Given the description of an element on the screen output the (x, y) to click on. 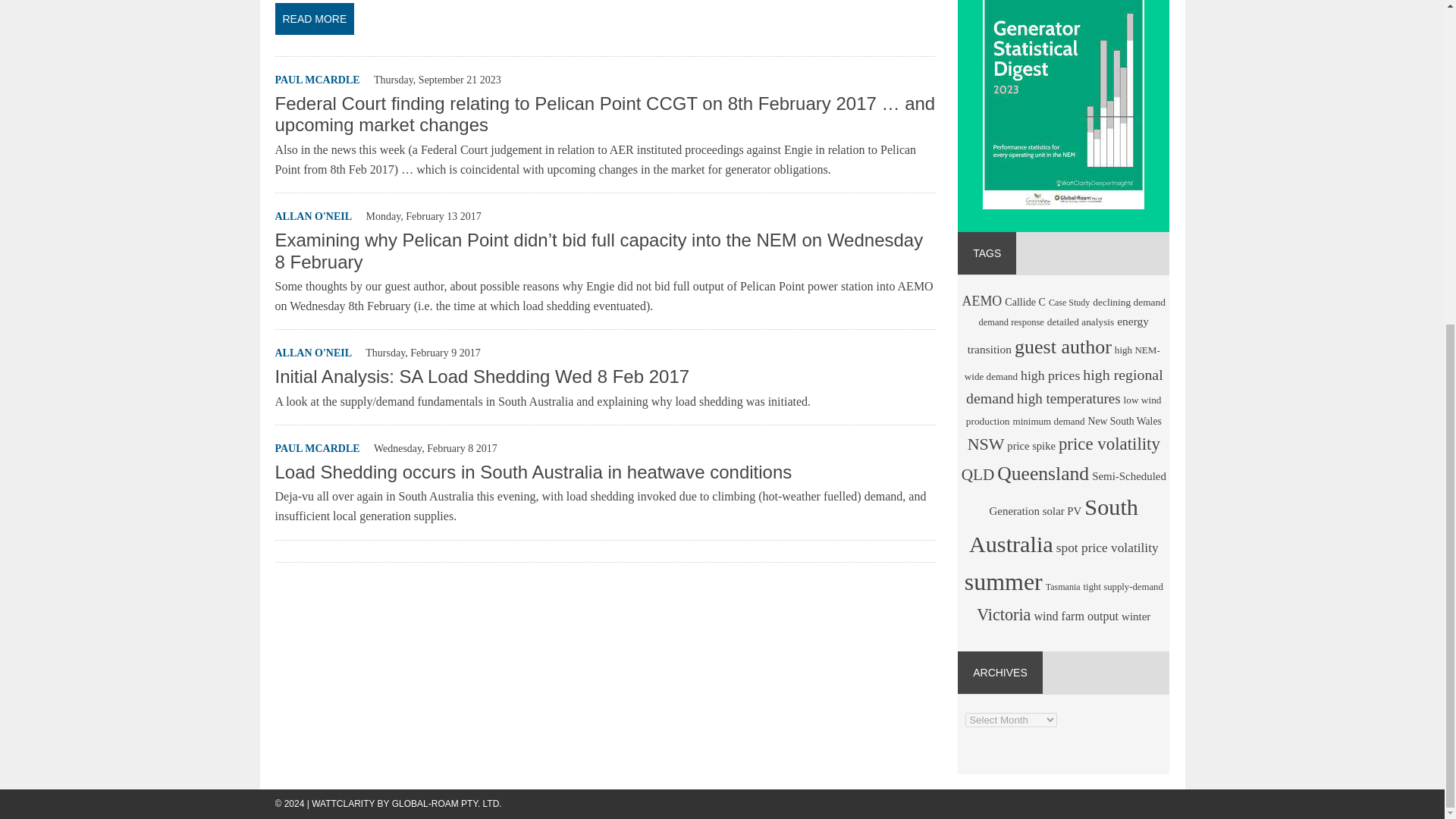
70 topics (1061, 362)
Initial Analysis: SA Load Shedding Wed 8 Feb 2017 (481, 376)
100 topics (1058, 334)
56 topics (1068, 302)
READ MORE (604, 21)
234 topics (1063, 346)
83 topics (1024, 301)
74 topics (1129, 301)
131 topics (982, 300)
73 topics (1079, 321)
PAUL MCARDLE (317, 79)
62 topics (1010, 321)
